Given the description of an element on the screen output the (x, y) to click on. 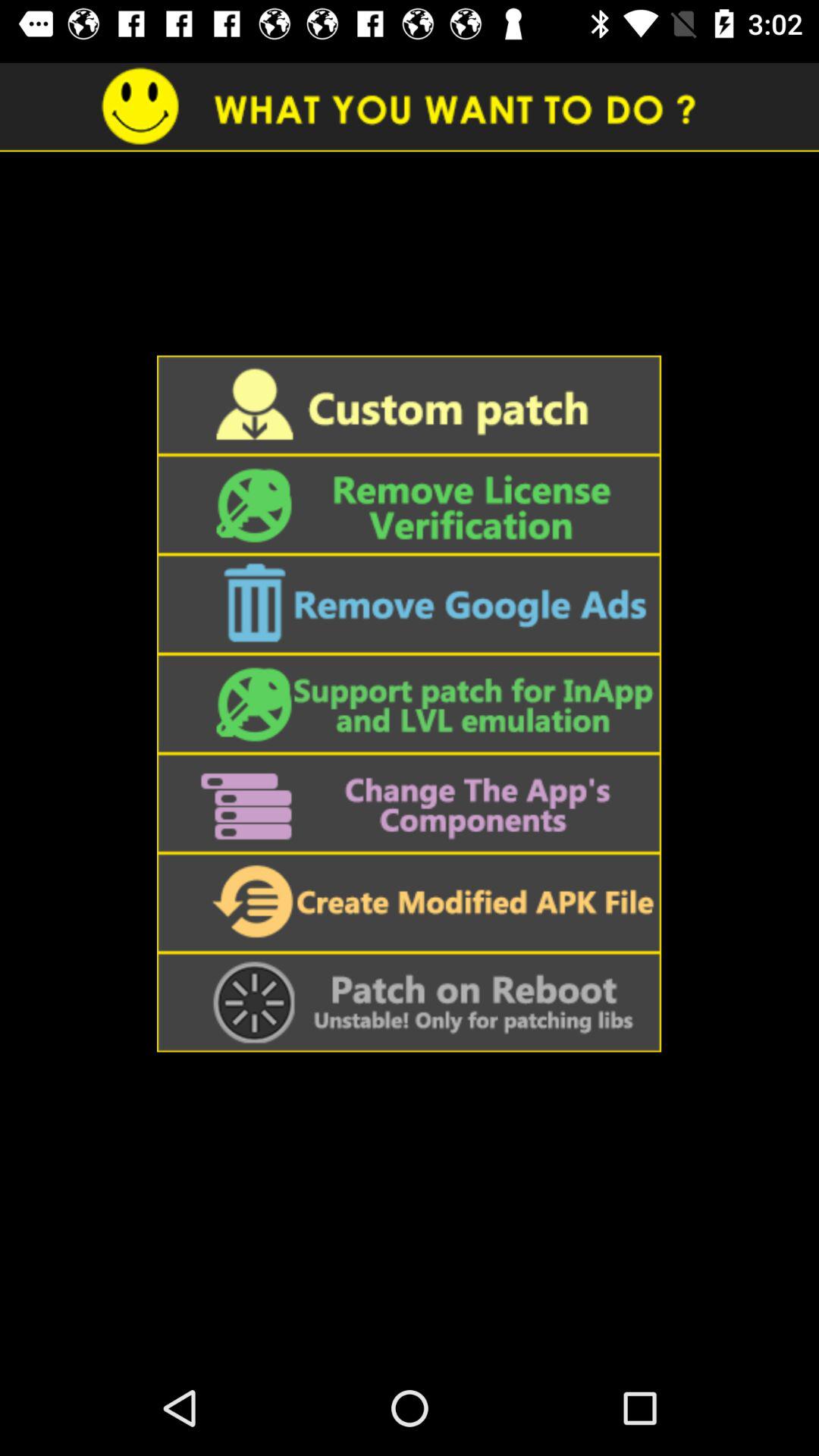
click menu selection (408, 504)
